Given the description of an element on the screen output the (x, y) to click on. 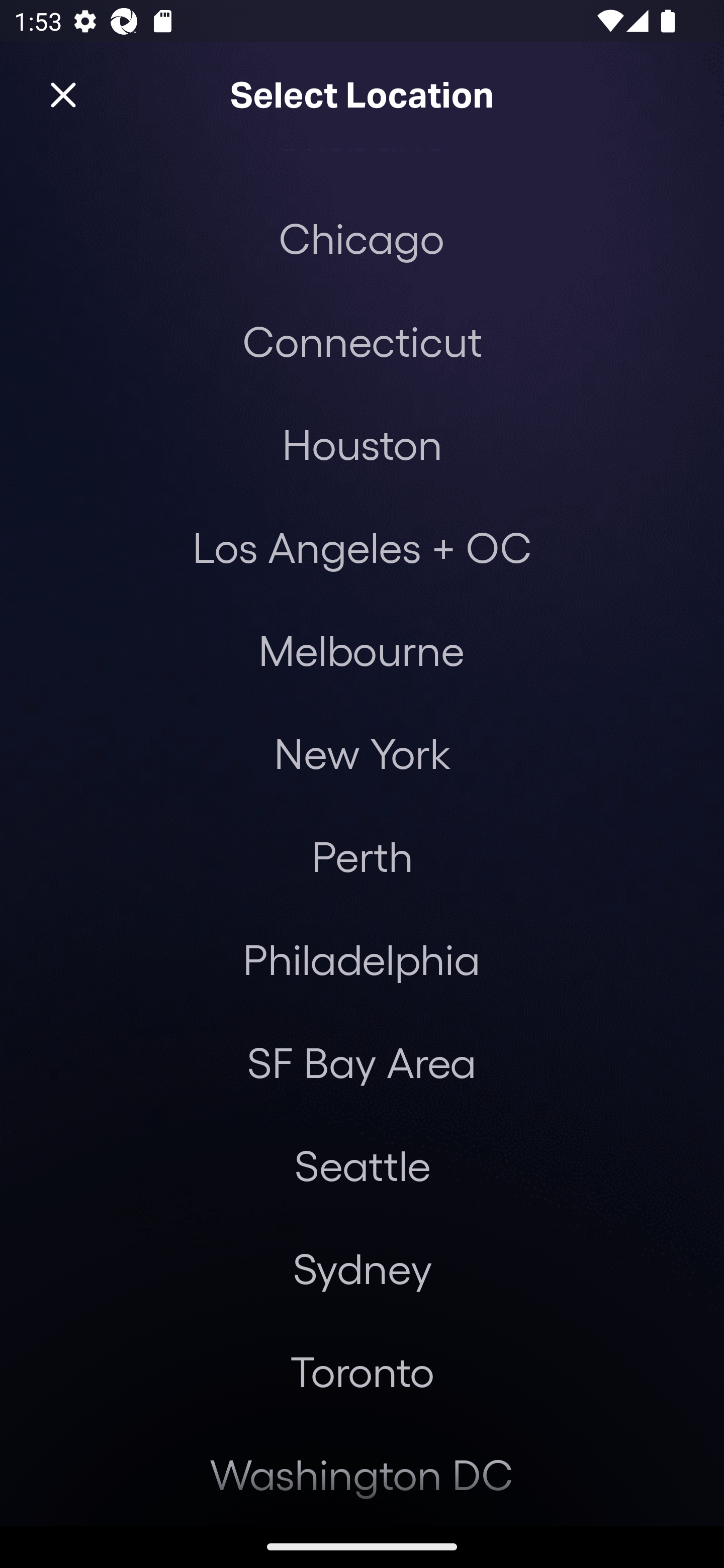
Close (62, 95)
Chicago (361, 238)
Connecticut (361, 341)
Houston (361, 443)
Los Angeles + OC (361, 546)
Melbourne (361, 649)
New York (361, 752)
Perth (361, 855)
Philadelphia (361, 959)
SF Bay Area (361, 1062)
Seattle (361, 1164)
Sydney (361, 1268)
Toronto (361, 1371)
Washington DC (361, 1473)
